Given the description of an element on the screen output the (x, y) to click on. 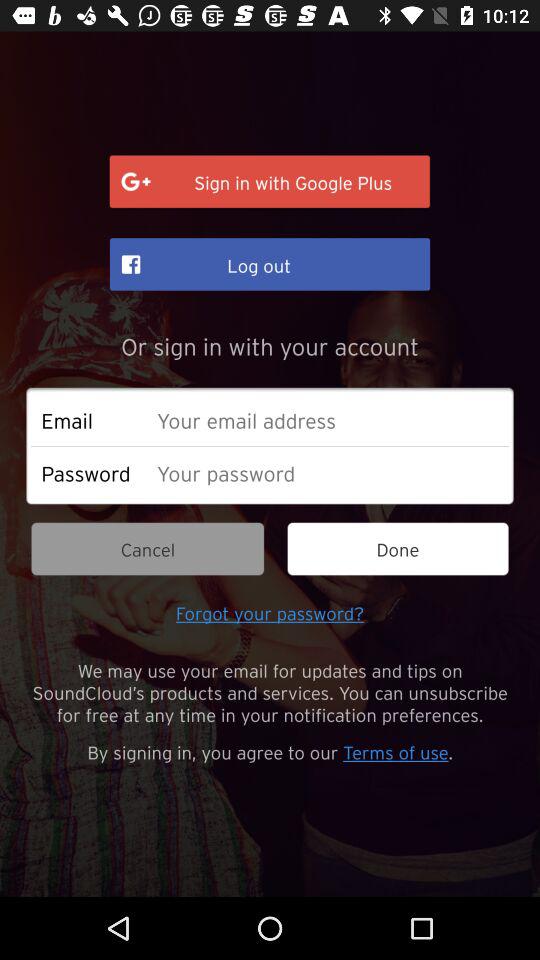
select the item below the or sign in (327, 419)
